Given the description of an element on the screen output the (x, y) to click on. 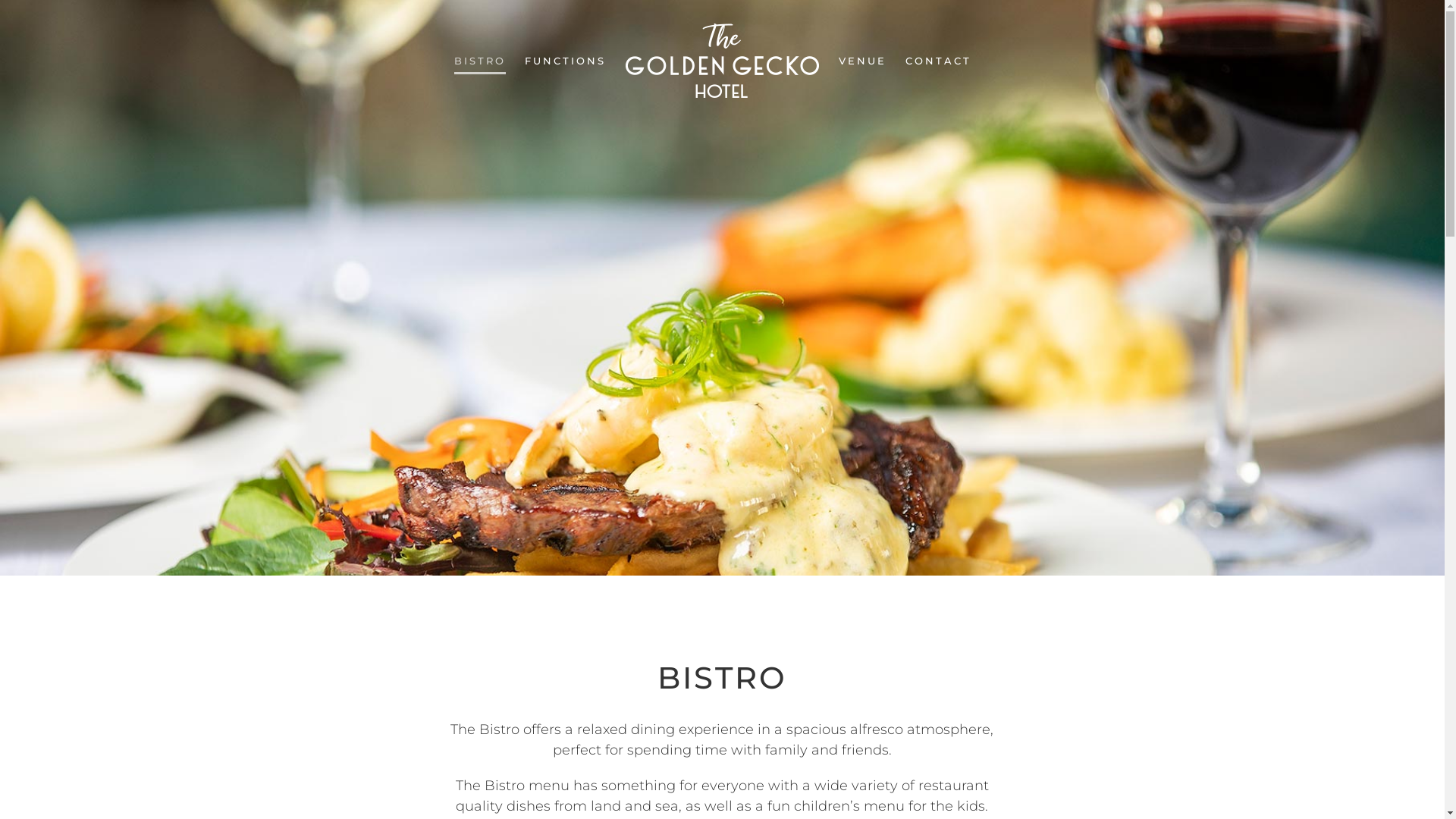
VENUE Element type: text (862, 60)
FUNCTIONS Element type: text (564, 60)
CONTACT Element type: text (938, 60)
BISTRO Element type: text (479, 60)
